Given the description of an element on the screen output the (x, y) to click on. 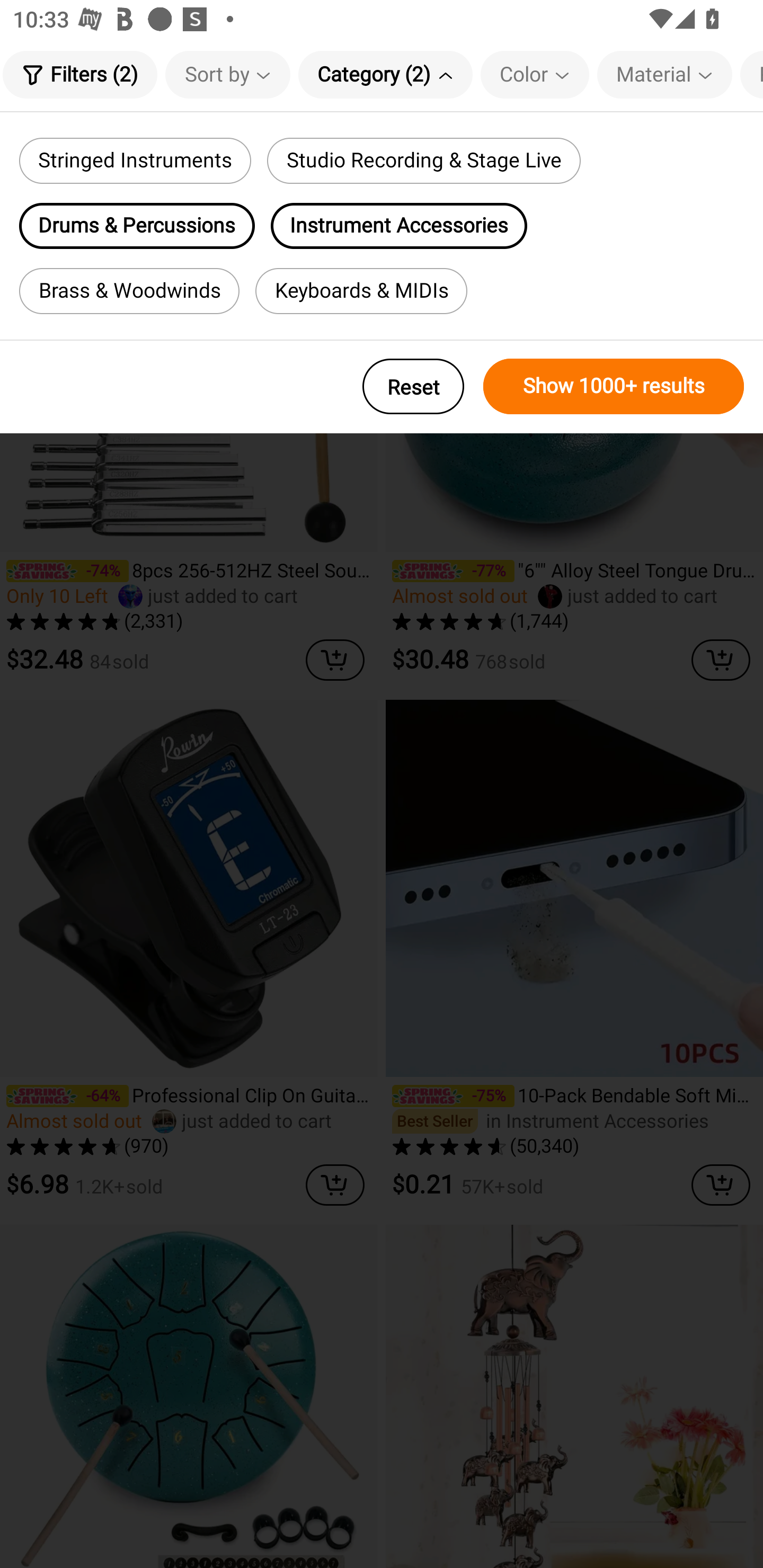
Filters (2) (79, 74)
Sort by (227, 74)
Category (2) (385, 74)
Color (534, 74)
Material (664, 74)
Stringed Instruments (135, 160)
Studio Recording & Stage Live (423, 160)
Drums & Percussions (136, 225)
Instrument Accessories (398, 225)
Brass & Woodwinds (129, 290)
Keyboards & MIDIs (360, 290)
Reset (412, 386)
Show 1000+ results (612, 386)
